Given the description of an element on the screen output the (x, y) to click on. 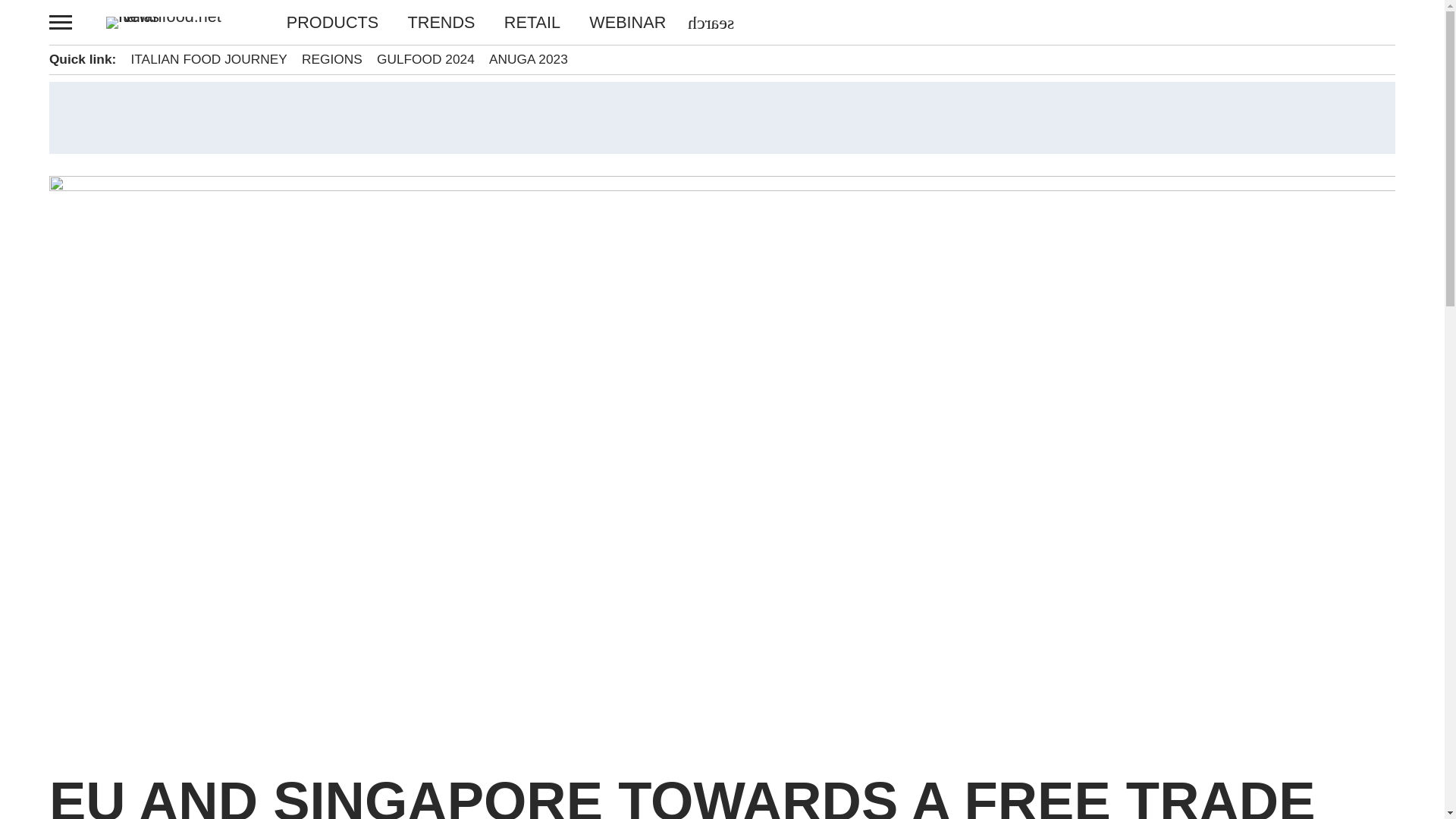
Search (42, 17)
RETAIL (532, 22)
TRENDS (441, 22)
PRODUCTS (339, 22)
WEBINAR (620, 22)
